Given the description of an element on the screen output the (x, y) to click on. 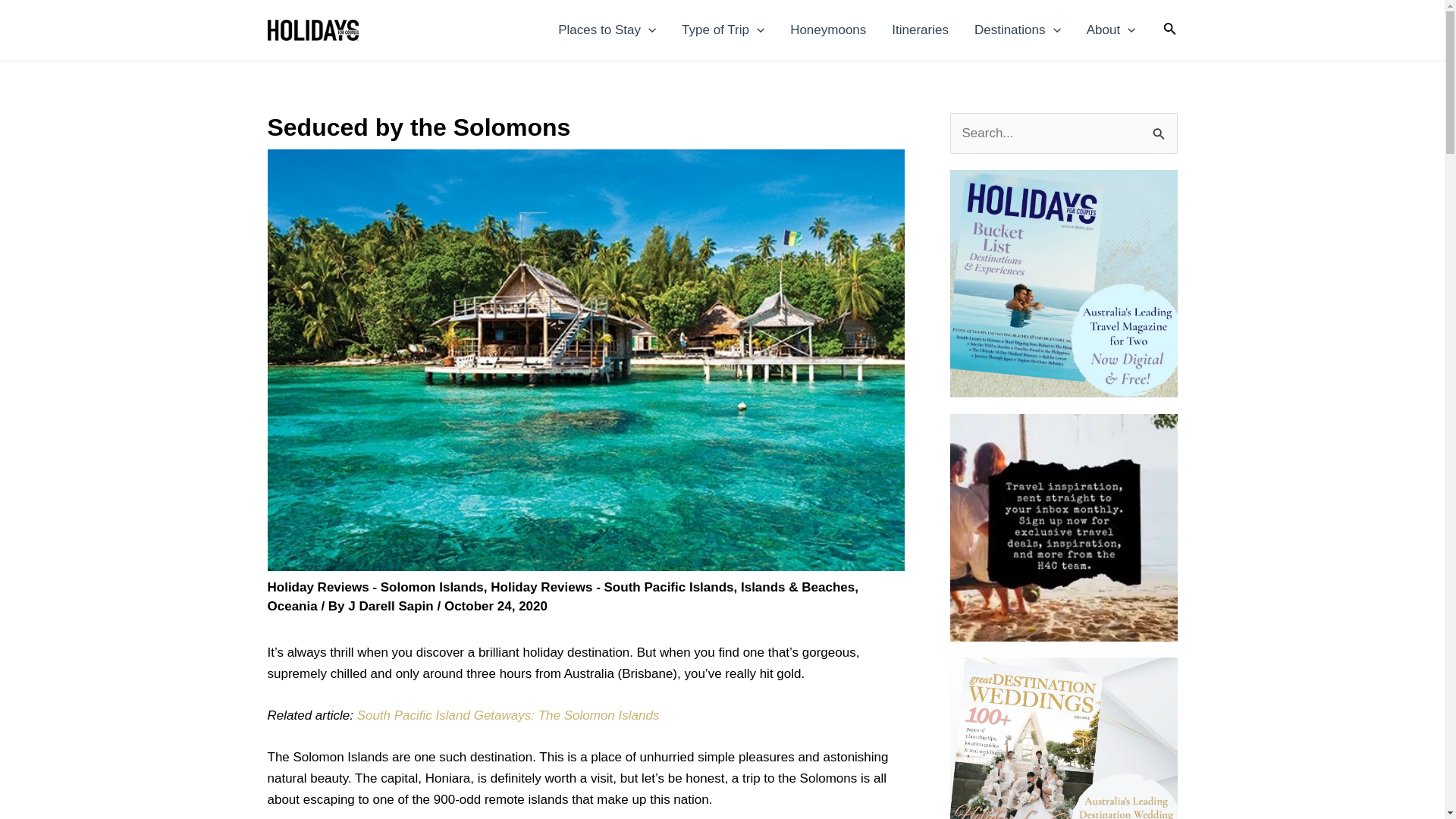
Search (1159, 129)
View all posts by J Darell Sapin (391, 605)
Search (1159, 129)
Places to Stay (606, 30)
